Given the description of an element on the screen output the (x, y) to click on. 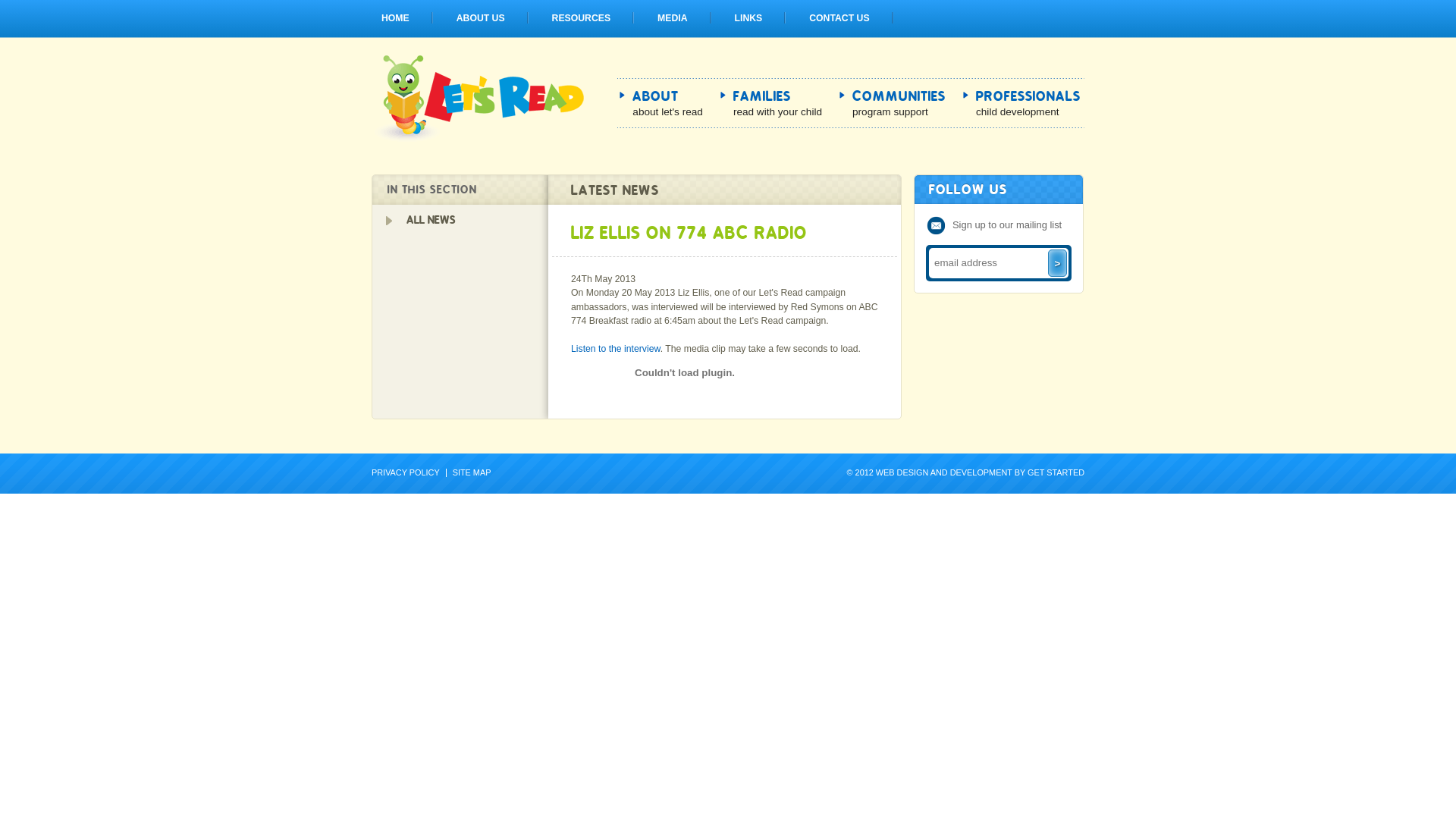
PRIVACY POLICY Element type: text (408, 472)
ABOUT US Element type: text (480, 17)
PROFESSIONALS
child development Element type: text (1027, 103)
SITE MAP Element type: text (471, 472)
COMMUNITIES
program support Element type: text (898, 103)
MEDIA Element type: text (672, 17)
ALL NEWS Element type: text (460, 220)
WEB DESIGN AND DEVELOPMENT BY GET STARTED Element type: text (979, 471)
ABOUT
about let's read Element type: text (667, 103)
Back to the home page Element type: hover (477, 138)
Listen to the interview Element type: text (615, 348)
FAMILIES
read with your child Element type: text (777, 103)
LINKS Element type: text (748, 17)
HOME Element type: text (395, 17)
CONTACT US Element type: text (838, 17)
> Element type: text (1057, 262)
RESOURCES Element type: text (581, 17)
